Given the description of an element on the screen output the (x, y) to click on. 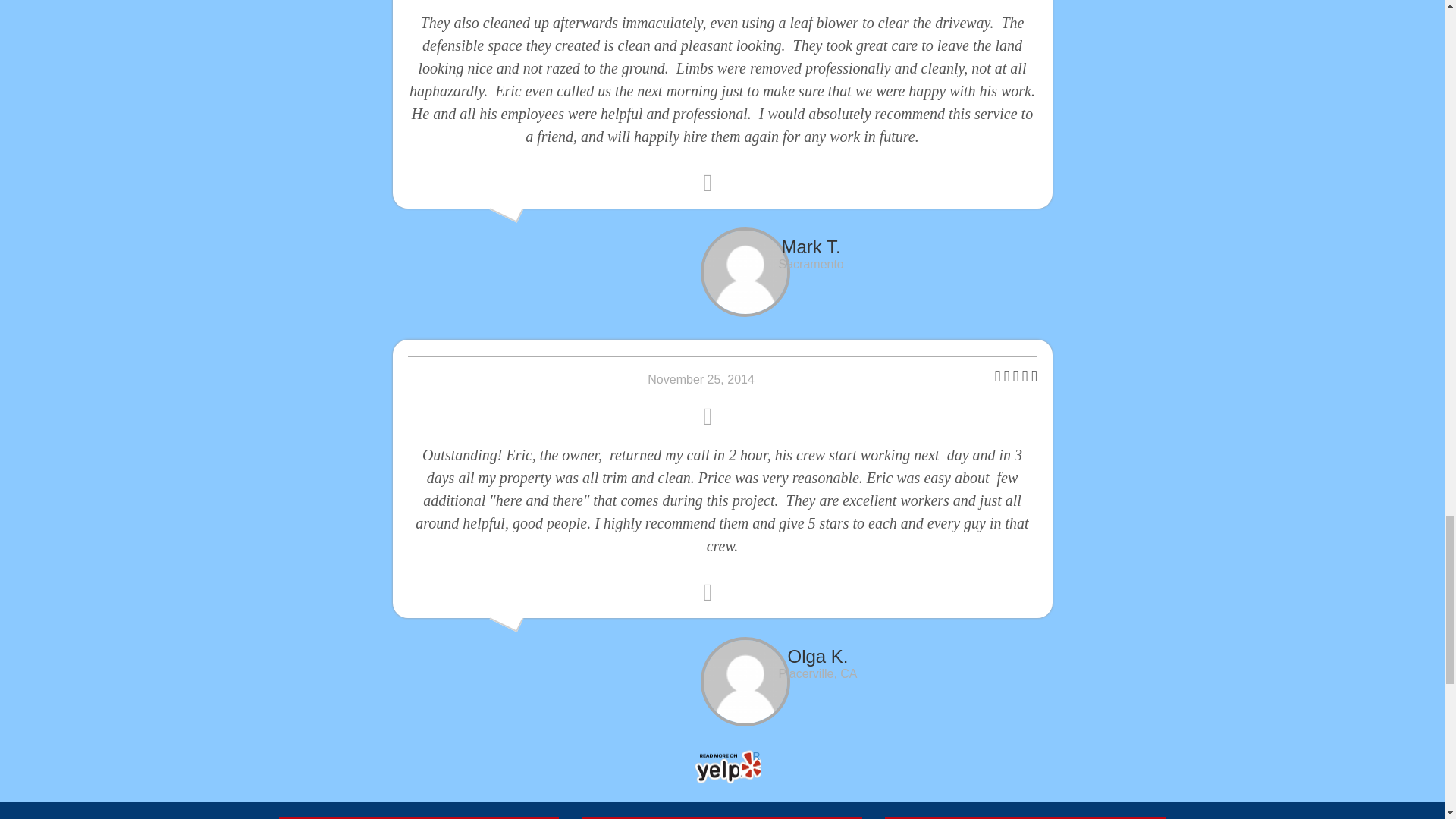
Hilltop Tree Service on Yelp (722, 768)
Read More Hilltop Tree Service Reviews On Yelp.Com (722, 768)
